Given the description of an element on the screen output the (x, y) to click on. 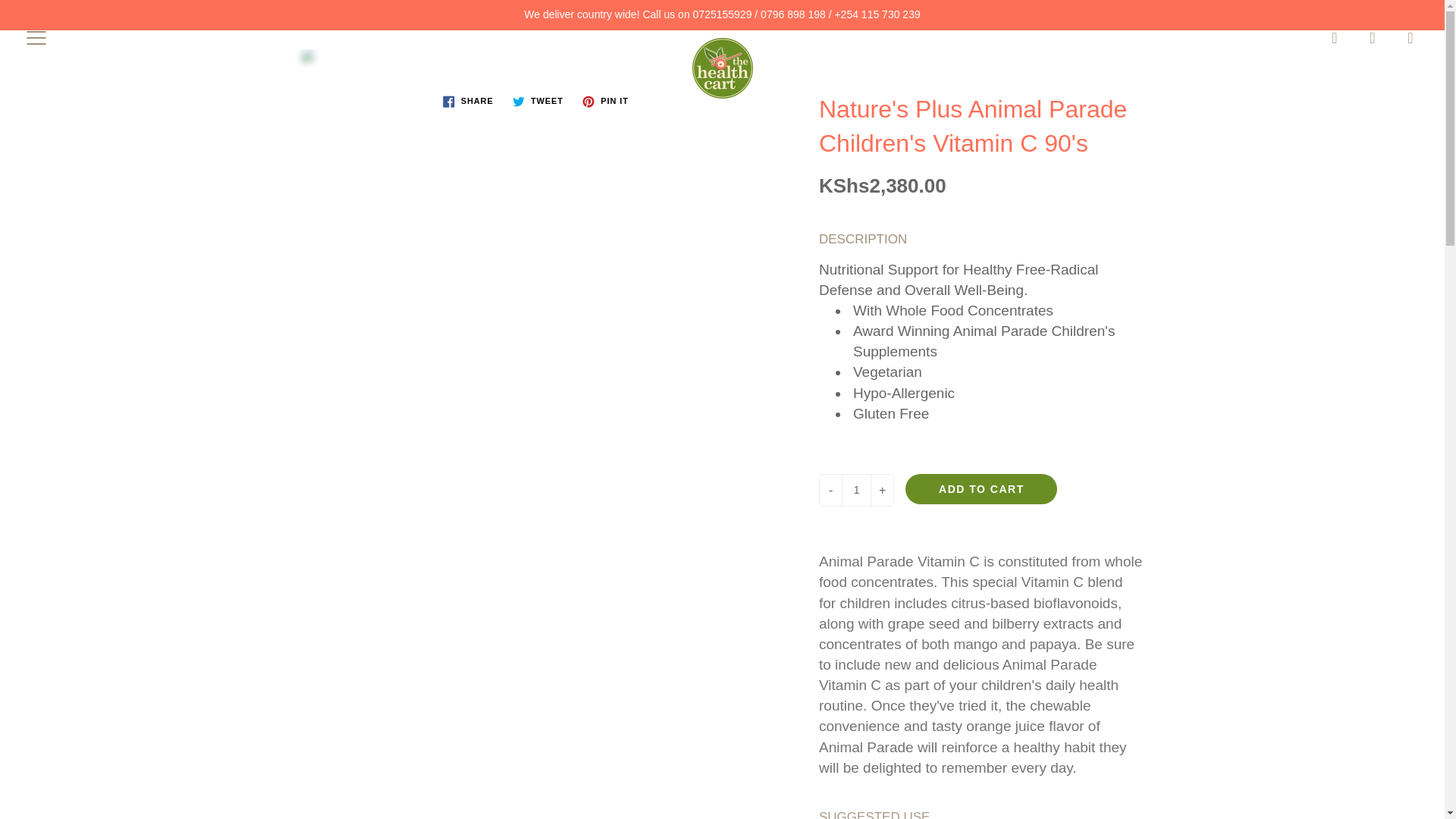
Press space bar to toggle menu (36, 37)
Nature's Plus Animal Parade Children's Vitamin C 90's (537, 64)
Share on Facebook (467, 101)
You have 0 items in your cart (1410, 37)
Search (1334, 37)
Pin on Pinterest (604, 101)
Tweet on Twitter (537, 101)
My account (1372, 37)
1 (855, 490)
